Given the description of an element on the screen output the (x, y) to click on. 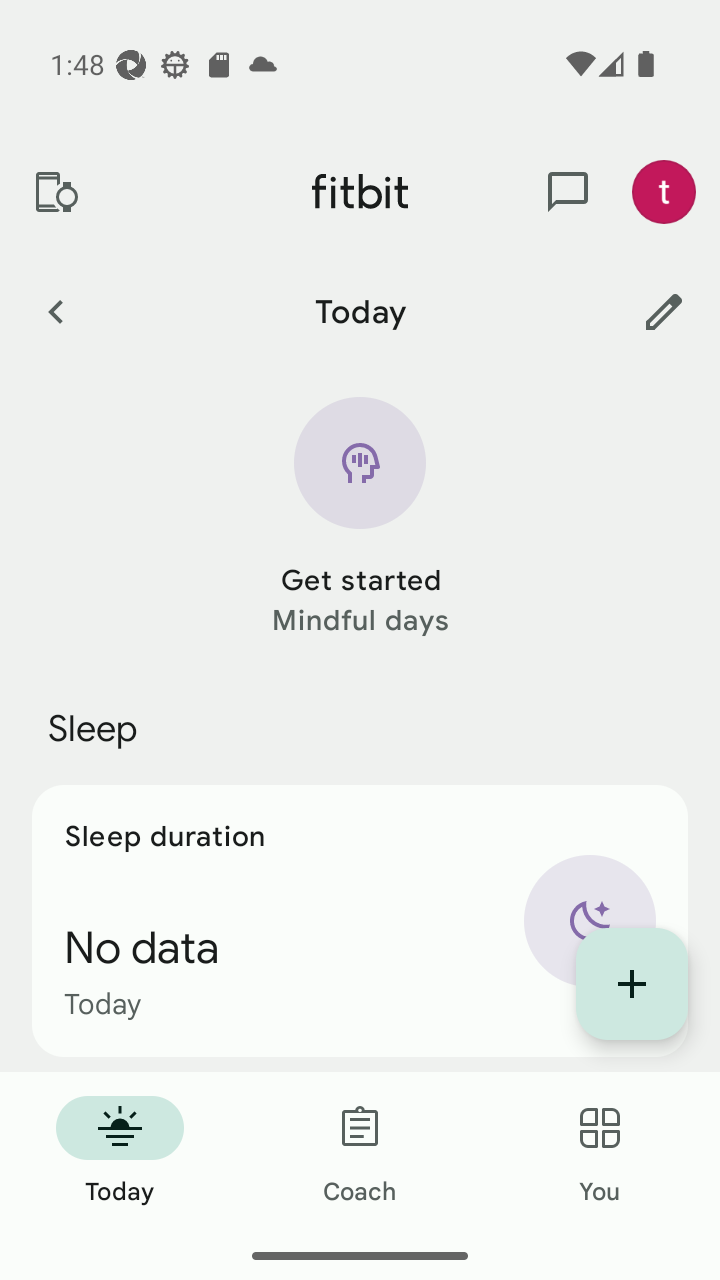
Devices and apps (55, 191)
messages and notifications (567, 191)
Previous Day (55, 311)
Customize (664, 311)
Mindfulness icon Get started Mindful days (360, 518)
Sleep duration No data Today Sleep static arc (359, 920)
Display list of quick log entries (632, 983)
Coach (359, 1151)
You (600, 1151)
